Given the description of an element on the screen output the (x, y) to click on. 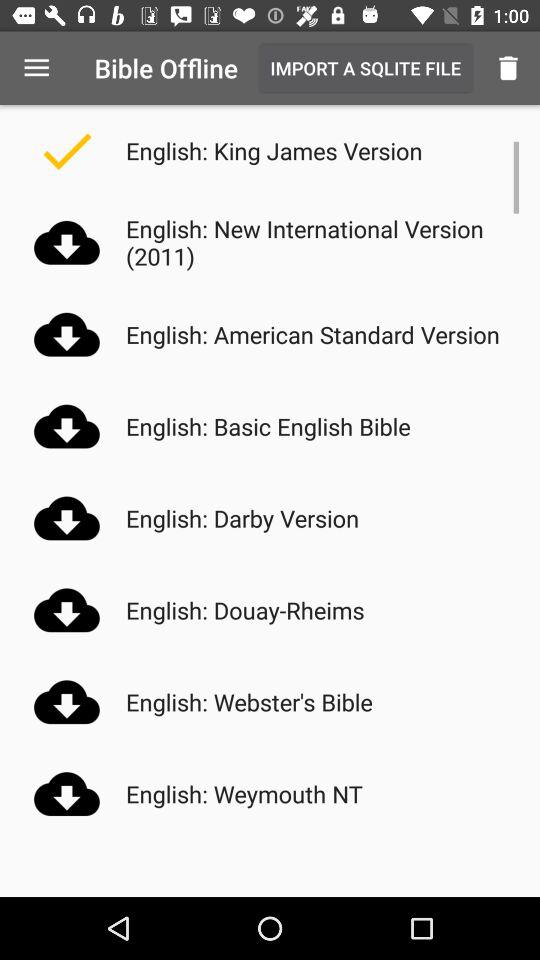
select the icon above english new international item (508, 67)
